Given the description of an element on the screen output the (x, y) to click on. 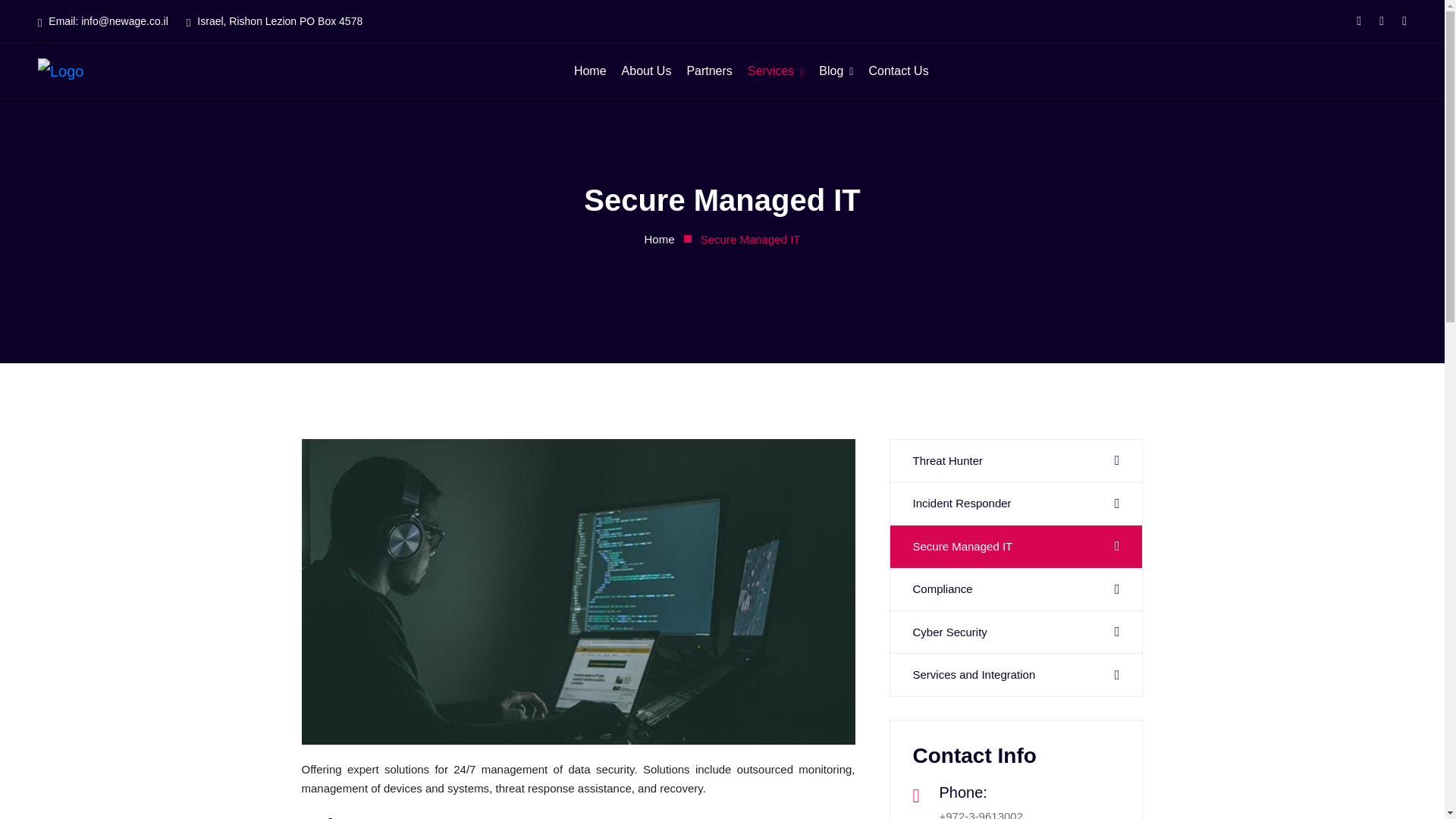
Home (660, 239)
Secure Managed IT (1015, 546)
Services (775, 70)
Incident Responder (1015, 503)
Home (590, 70)
Contact Us (897, 70)
Threat Hunter (1015, 461)
Home (590, 70)
Contact Us (897, 70)
Partners (708, 70)
Services and Integration (1015, 674)
Services (775, 70)
Cyber Security (1015, 632)
Blog (835, 70)
About Us (646, 70)
